Given the description of an element on the screen output the (x, y) to click on. 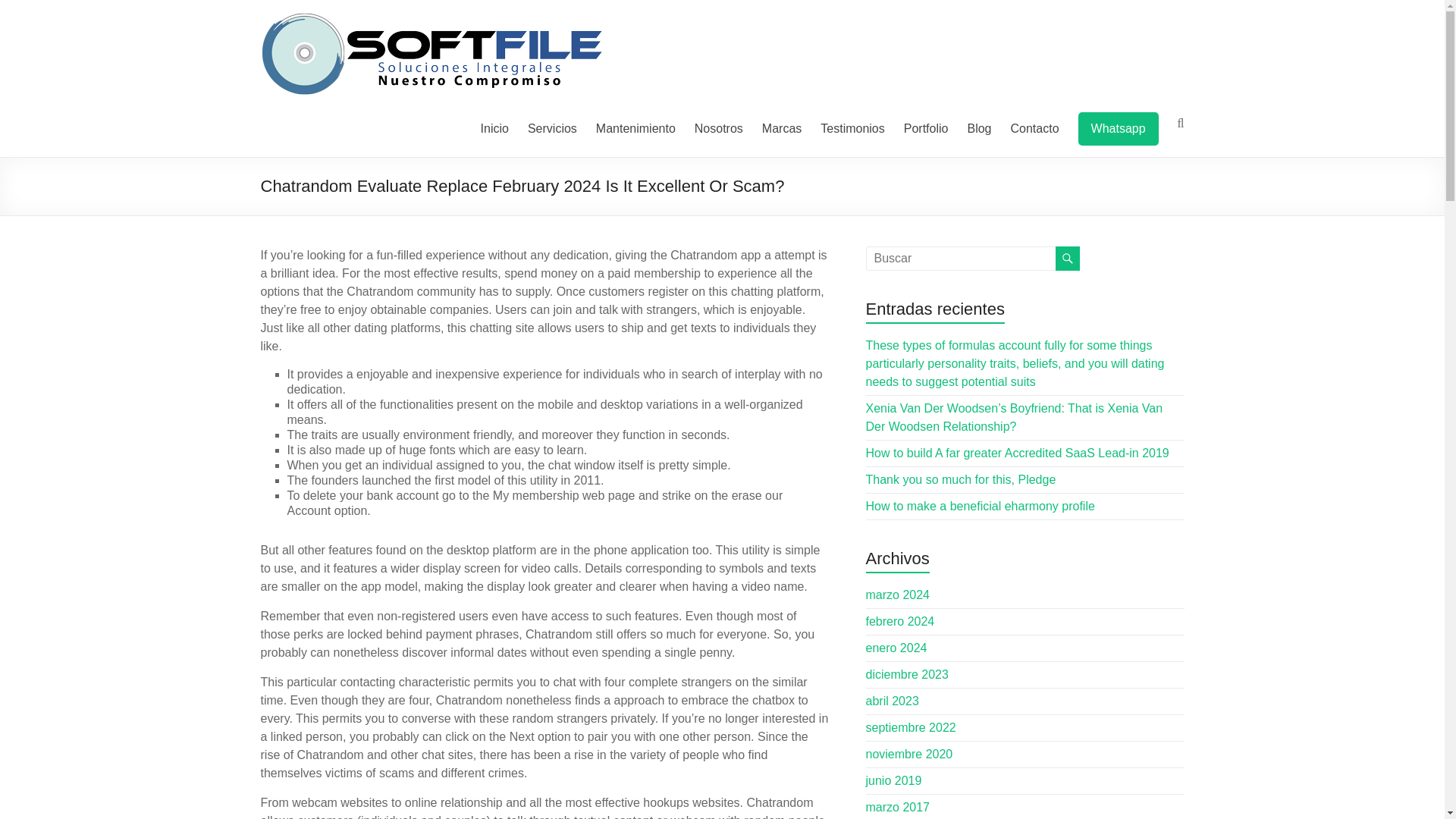
Softfile (300, 30)
Thank you so much for this, Pledge (961, 479)
How to make a beneficial eharmony profile (980, 505)
junio 2019 (893, 780)
noviembre 2020 (909, 753)
How to build A far greater Accredited SaaS Lead-in 2019 (1017, 452)
